Given the description of an element on the screen output the (x, y) to click on. 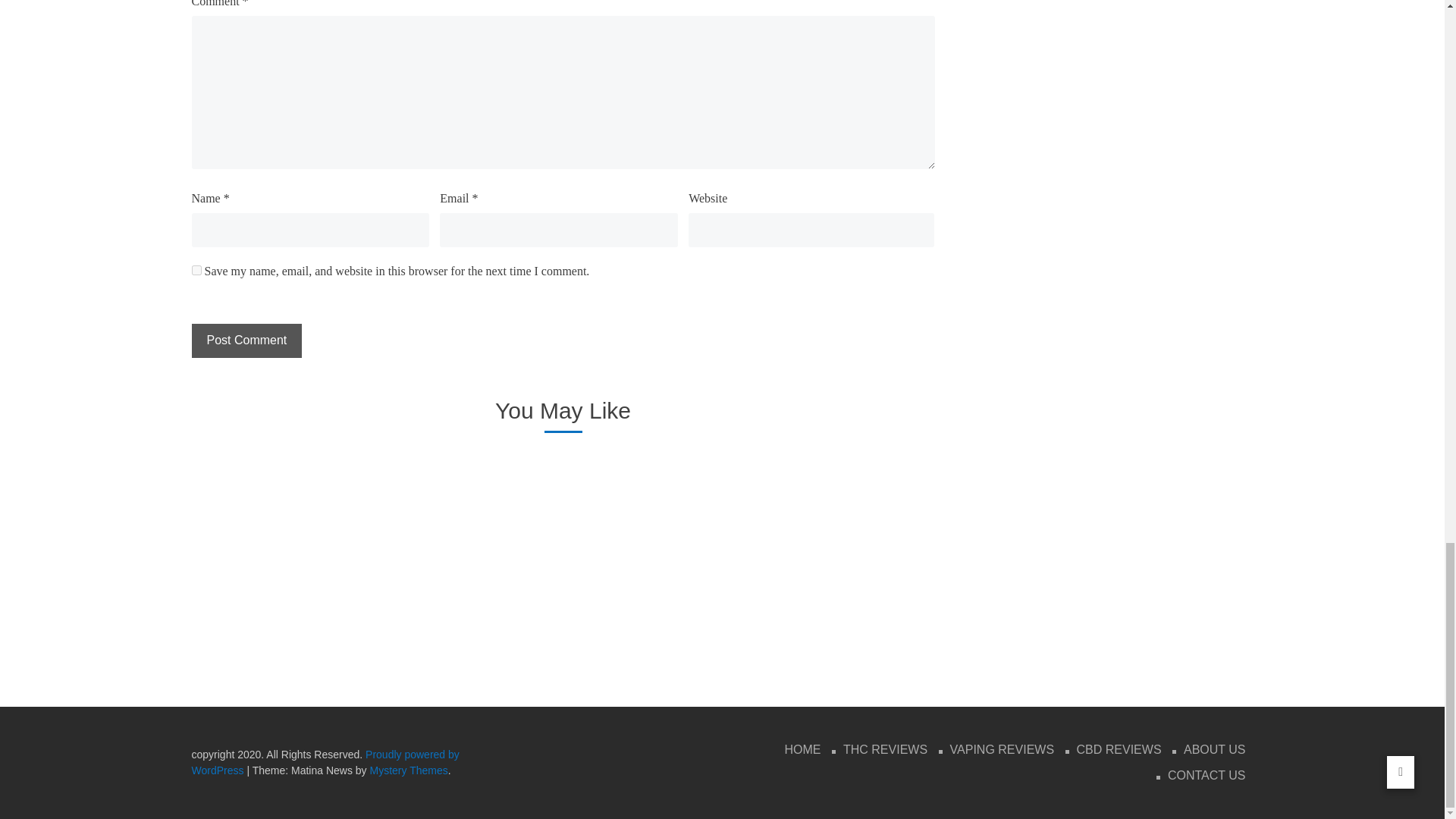
Post Comment (245, 340)
yes (195, 270)
HOME (802, 750)
Mystery Themes (408, 770)
Proudly powered by WordPress (324, 762)
VAPING REVIEWS (1002, 750)
ABOUT US (1214, 750)
Post Comment (245, 340)
CBD REVIEWS (1119, 750)
THC REVIEWS (885, 750)
